Given the description of an element on the screen output the (x, y) to click on. 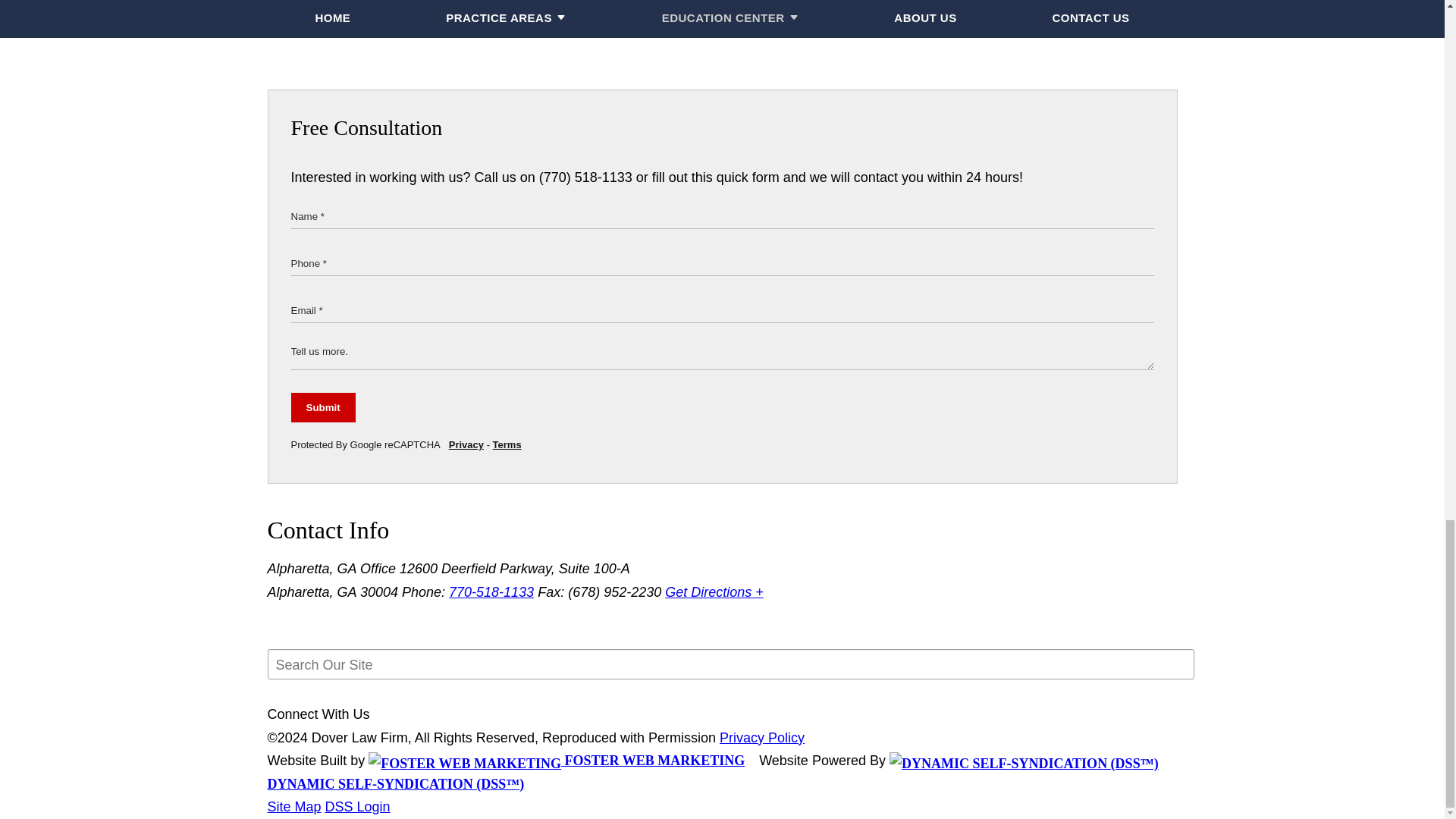
770-518-1133 (491, 591)
Terms (507, 444)
Privacy (465, 444)
Submit (323, 407)
